Given the description of an element on the screen output the (x, y) to click on. 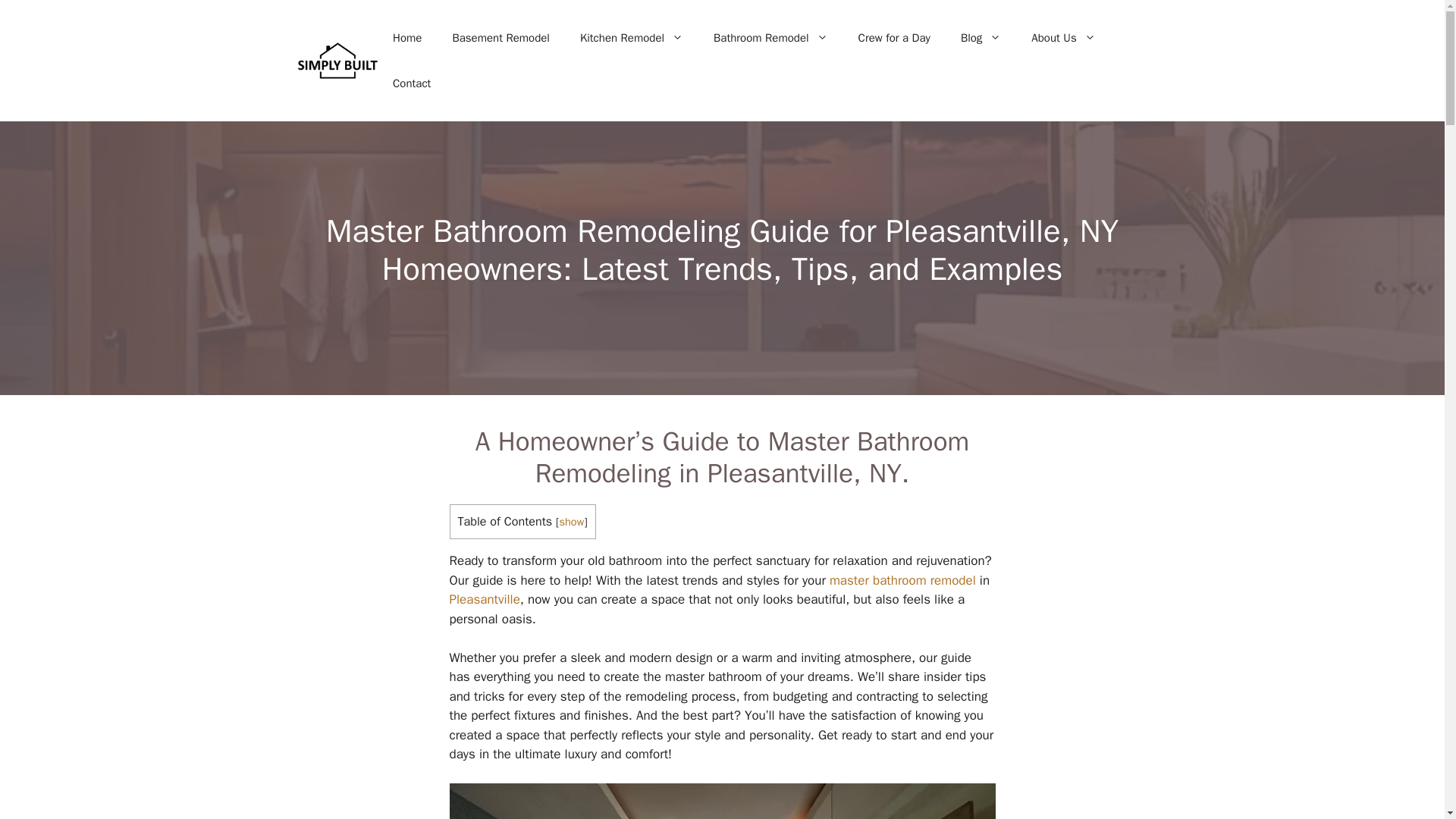
Blog (980, 37)
Basement Remodel (500, 37)
Home (406, 37)
Contact (411, 83)
show (571, 521)
Crew for a Day (893, 37)
Kitchen Remodel (631, 37)
Bathroom Remodel (770, 37)
About Us (1062, 37)
